Given the description of an element on the screen output the (x, y) to click on. 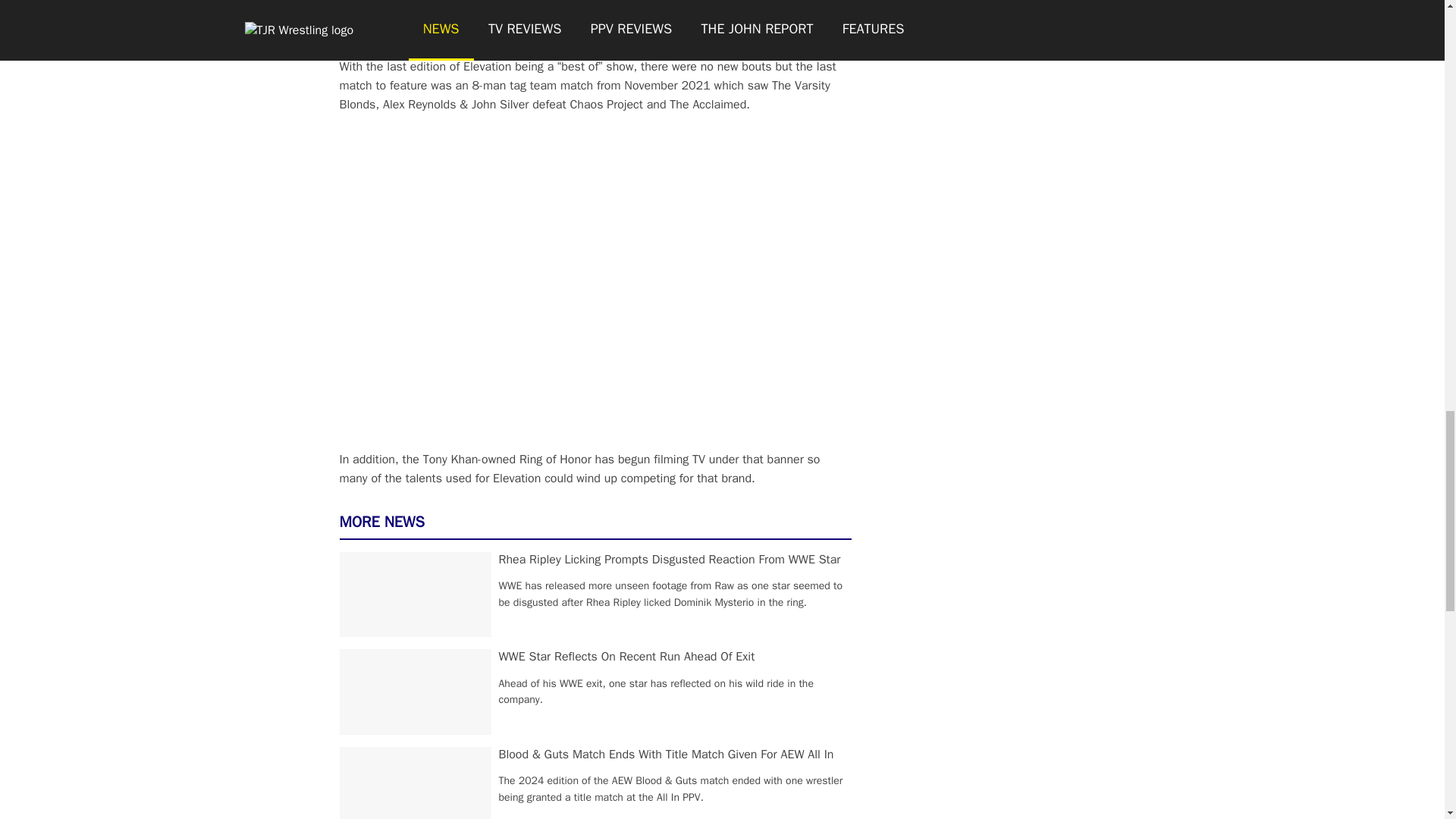
WWE Star Reflects On Recent Run Ahead Of Exit (627, 656)
Rhea Ripley Licking Prompts Disgusted Reaction From WWE Star (670, 559)
